Given the description of an element on the screen output the (x, y) to click on. 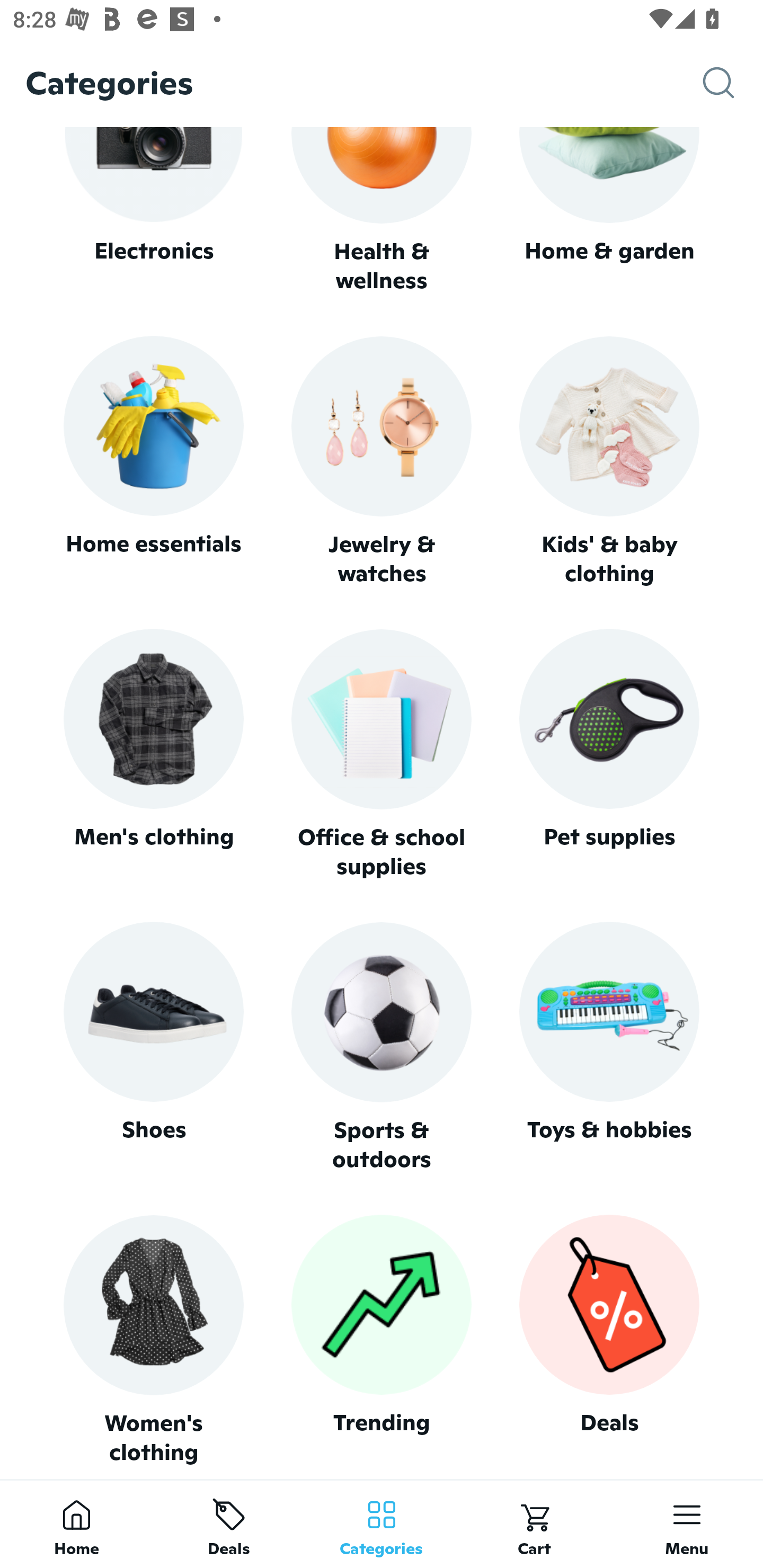
Search (732, 82)
Electronics (153, 210)
Health & wellness (381, 210)
Home & garden (609, 210)
Home essentials (153, 461)
Jewelry & watches (381, 462)
Kids' & baby clothing (609, 462)
Men's clothing (153, 753)
Pet supplies (609, 753)
Office & school supplies (381, 753)
Shoes (153, 1046)
Toys & hobbies (609, 1046)
Sports & outdoors (381, 1046)
Trending (381, 1340)
Deals (609, 1340)
Women's clothing (153, 1340)
Home (76, 1523)
Deals (228, 1523)
Categories (381, 1523)
Cart (533, 1523)
Menu (686, 1523)
